Given the description of an element on the screen output the (x, y) to click on. 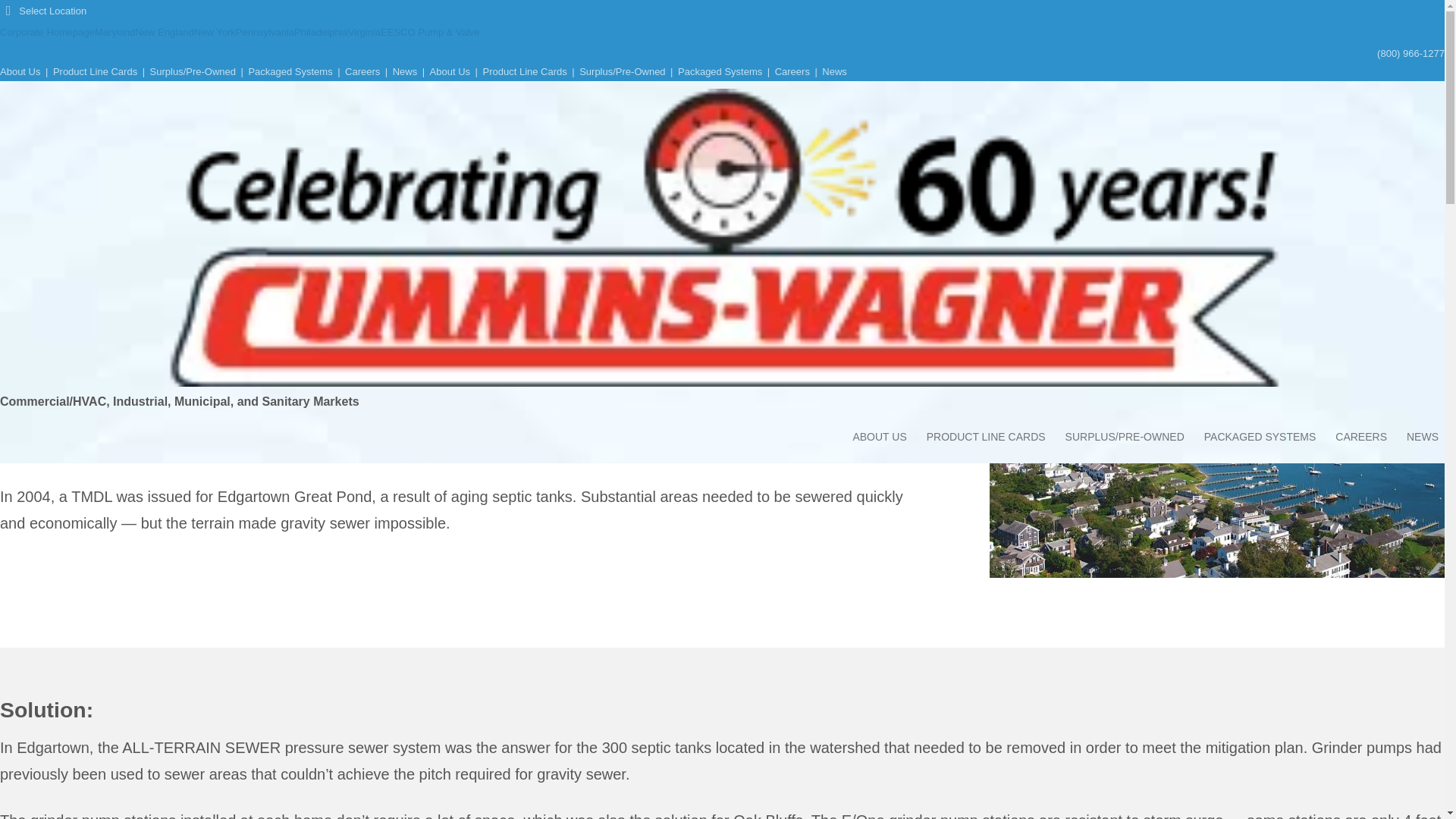
Maryland (114, 31)
News (405, 71)
News (834, 71)
Product Line Cards (94, 71)
Corporate Homepage (47, 31)
PRODUCT LINE CARDS (985, 436)
About Us (20, 71)
Pennsylvania (264, 31)
Product Line Cards (523, 71)
Select Location (42, 10)
New England (164, 31)
PACKAGED SYSTEMS (1260, 436)
Careers (362, 71)
Packaged Systems (289, 71)
New York (214, 31)
